Given the description of an element on the screen output the (x, y) to click on. 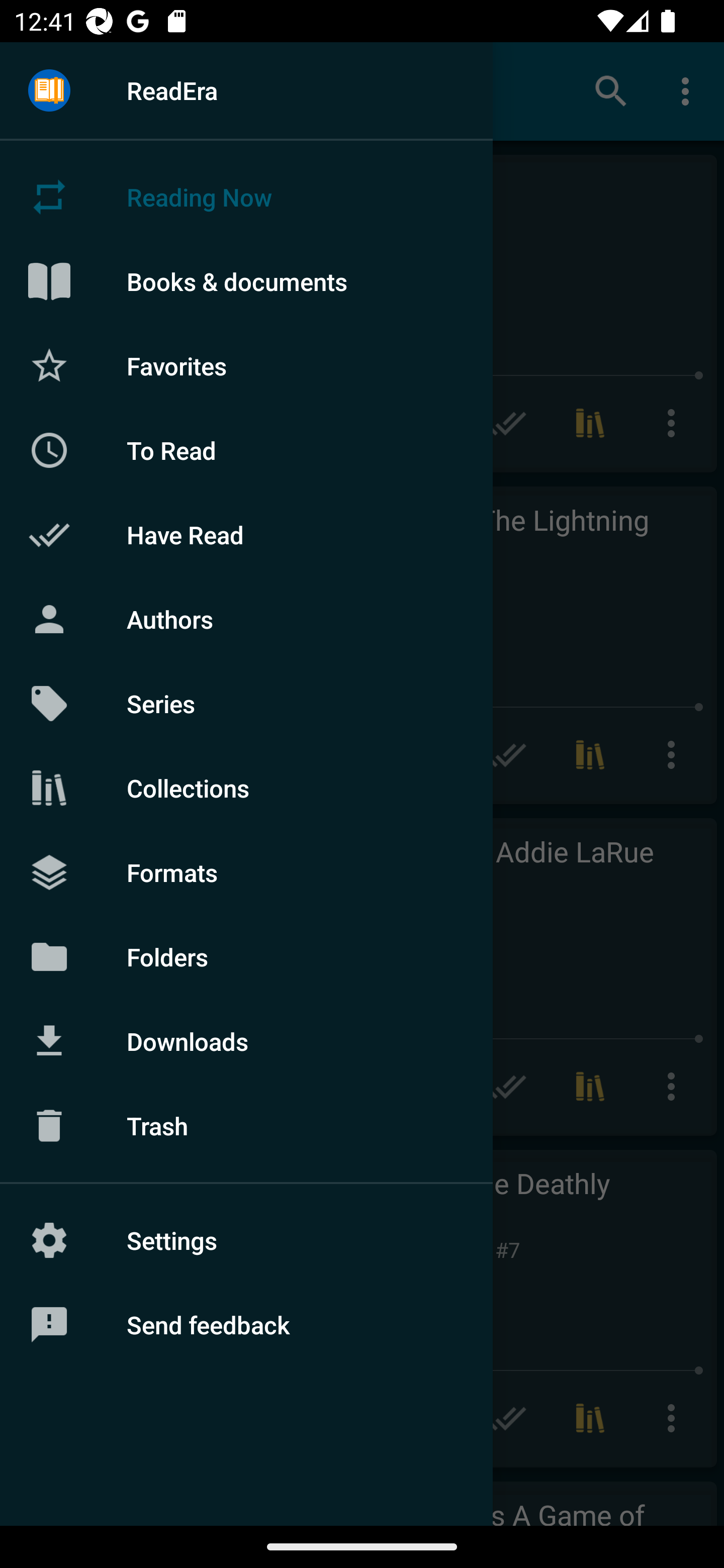
Menu (49, 91)
ReadEra (246, 89)
Search books & documents (611, 90)
More options (688, 90)
Reading Now (246, 197)
Books & documents (246, 281)
Favorites (246, 365)
To Read (246, 449)
Have Read (246, 534)
Authors (246, 619)
Series (246, 703)
Collections (246, 787)
Formats (246, 871)
Folders (246, 956)
Downloads (246, 1040)
Trash (246, 1125)
Settings (246, 1239)
Send feedback (246, 1324)
